Given the description of an element on the screen output the (x, y) to click on. 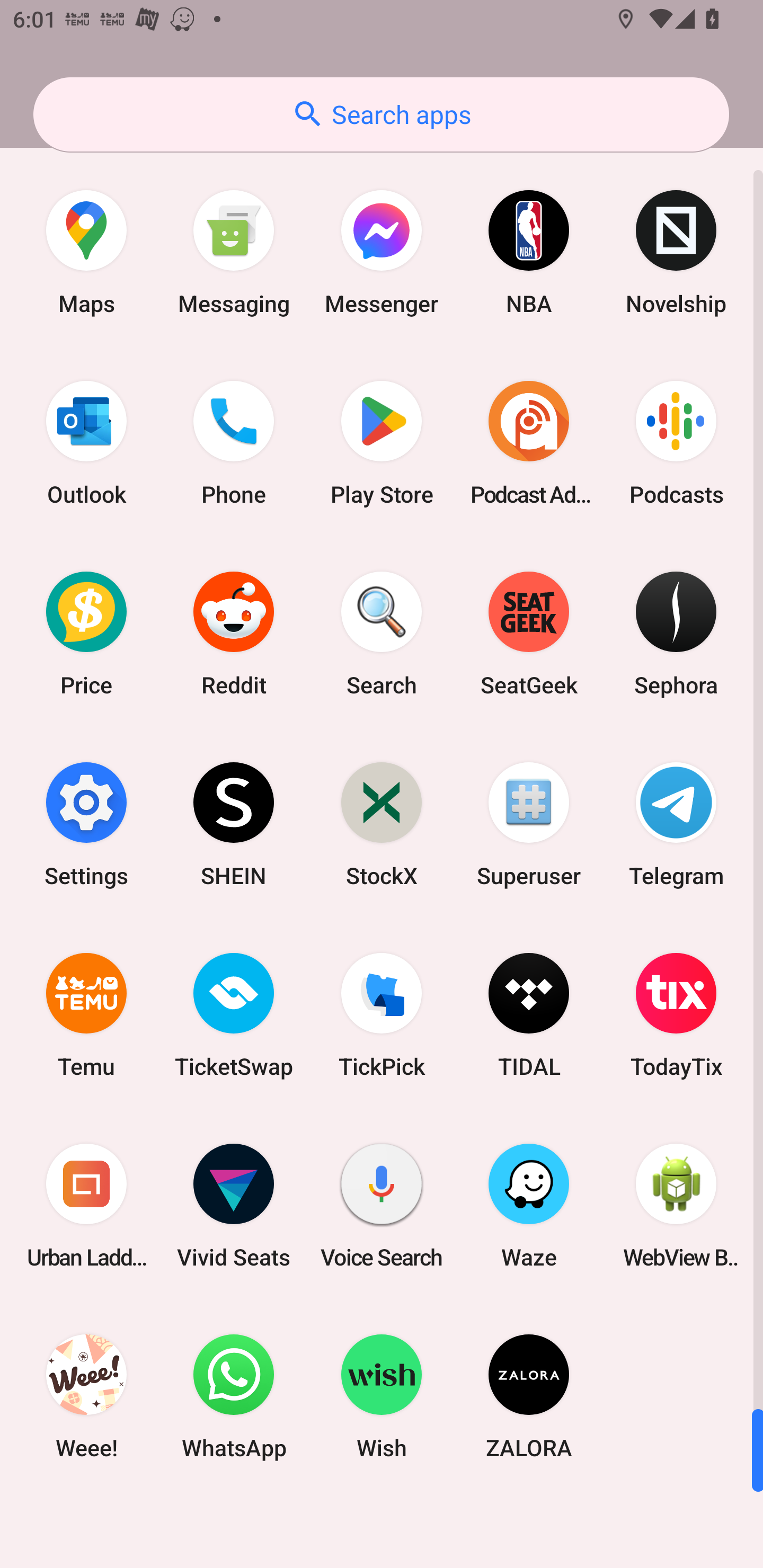
  Search apps (381, 114)
Maps (86, 252)
Messaging (233, 252)
Messenger (381, 252)
NBA (528, 252)
Novelship (676, 252)
Outlook (86, 442)
Phone (233, 442)
Play Store (381, 442)
Podcast Addict (528, 442)
Podcasts (676, 442)
Price (86, 633)
Reddit (233, 633)
Search (381, 633)
SeatGeek (528, 633)
Sephora (676, 633)
Settings (86, 823)
SHEIN (233, 823)
StockX (381, 823)
Superuser (528, 823)
Telegram (676, 823)
Temu (86, 1014)
TicketSwap (233, 1014)
TickPick (381, 1014)
TIDAL (528, 1014)
TodayTix (676, 1014)
Urban Ladder (86, 1205)
Vivid Seats (233, 1205)
Voice Search (381, 1205)
Waze (528, 1205)
WebView Browser Tester (676, 1205)
Weee! (86, 1396)
WhatsApp (233, 1396)
Wish (381, 1396)
ZALORA (528, 1396)
